Given the description of an element on the screen output the (x, y) to click on. 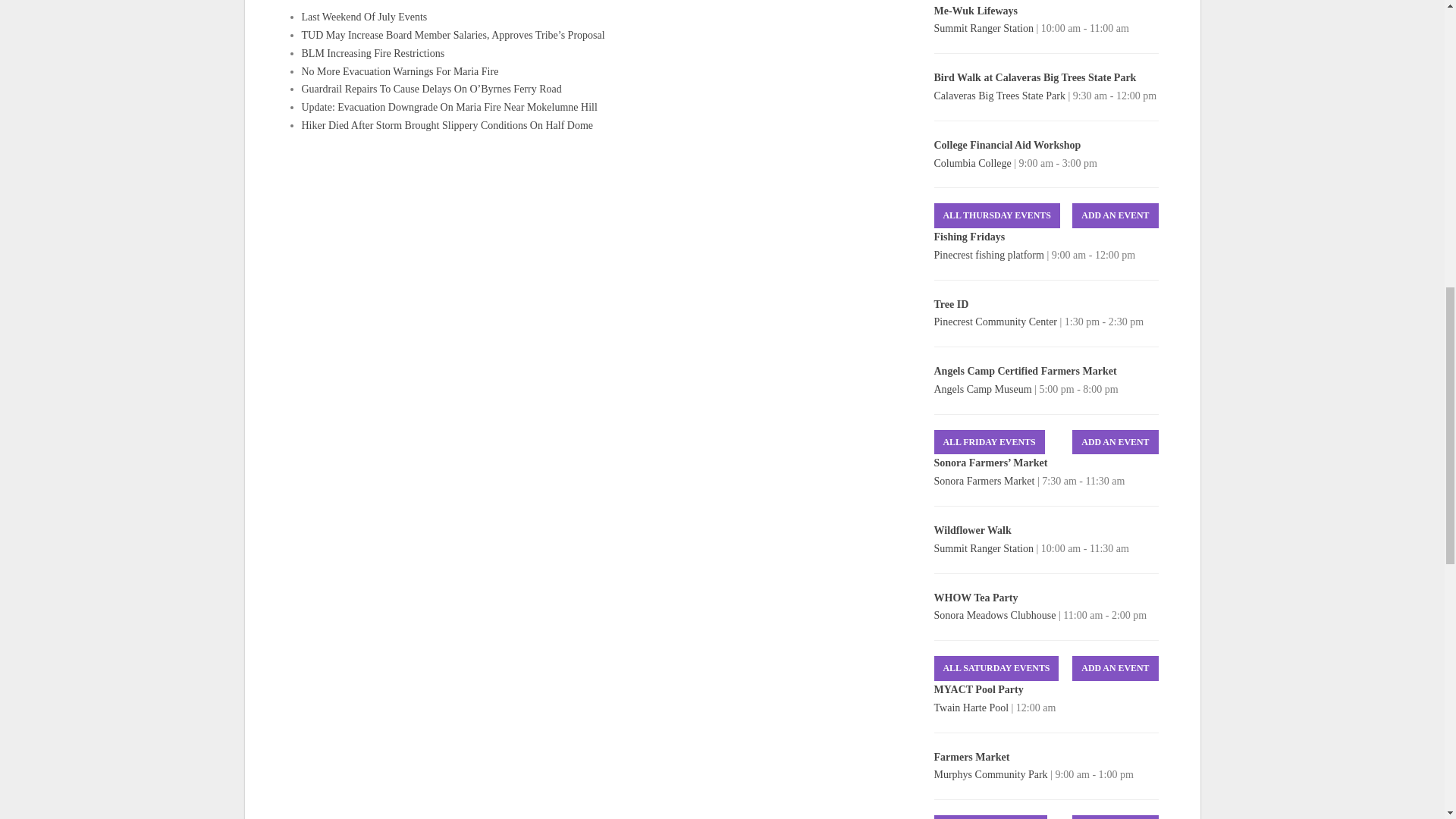
Add An Event (1114, 668)
Add An Event (1114, 816)
Add An Event (1114, 442)
All Saturday Events (996, 668)
All Friday Events (989, 442)
All Thursday Events (996, 215)
Add An Event (1114, 215)
All Sunday Events (990, 816)
